Given the description of an element on the screen output the (x, y) to click on. 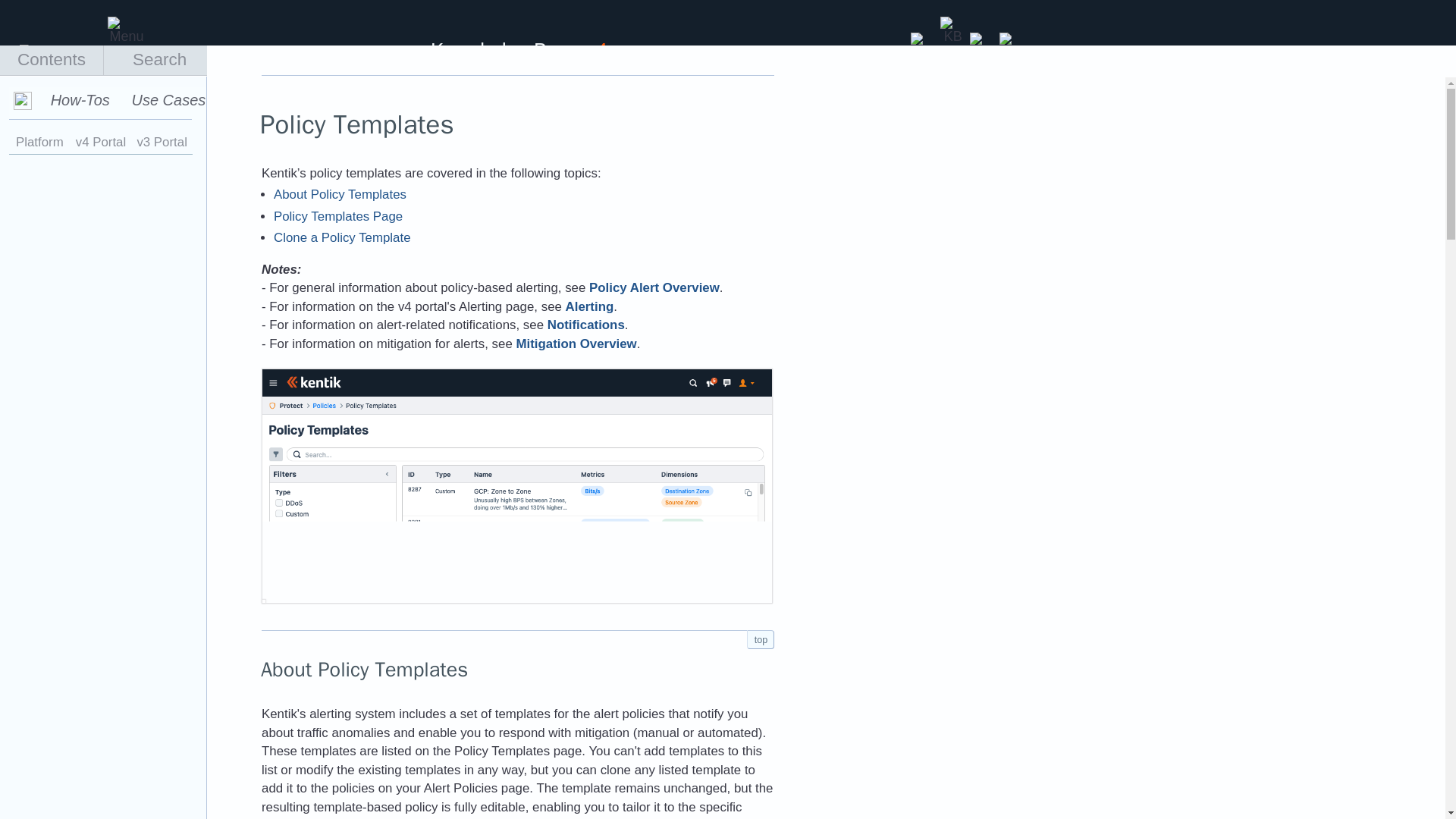
Open KB Tips (951, 23)
Show main menu (119, 23)
Feedback on KB (1010, 39)
Search KB (922, 39)
Knowledge Base (504, 49)
Support.options (981, 39)
go: Kentik website (59, 52)
